Given the description of an element on the screen output the (x, y) to click on. 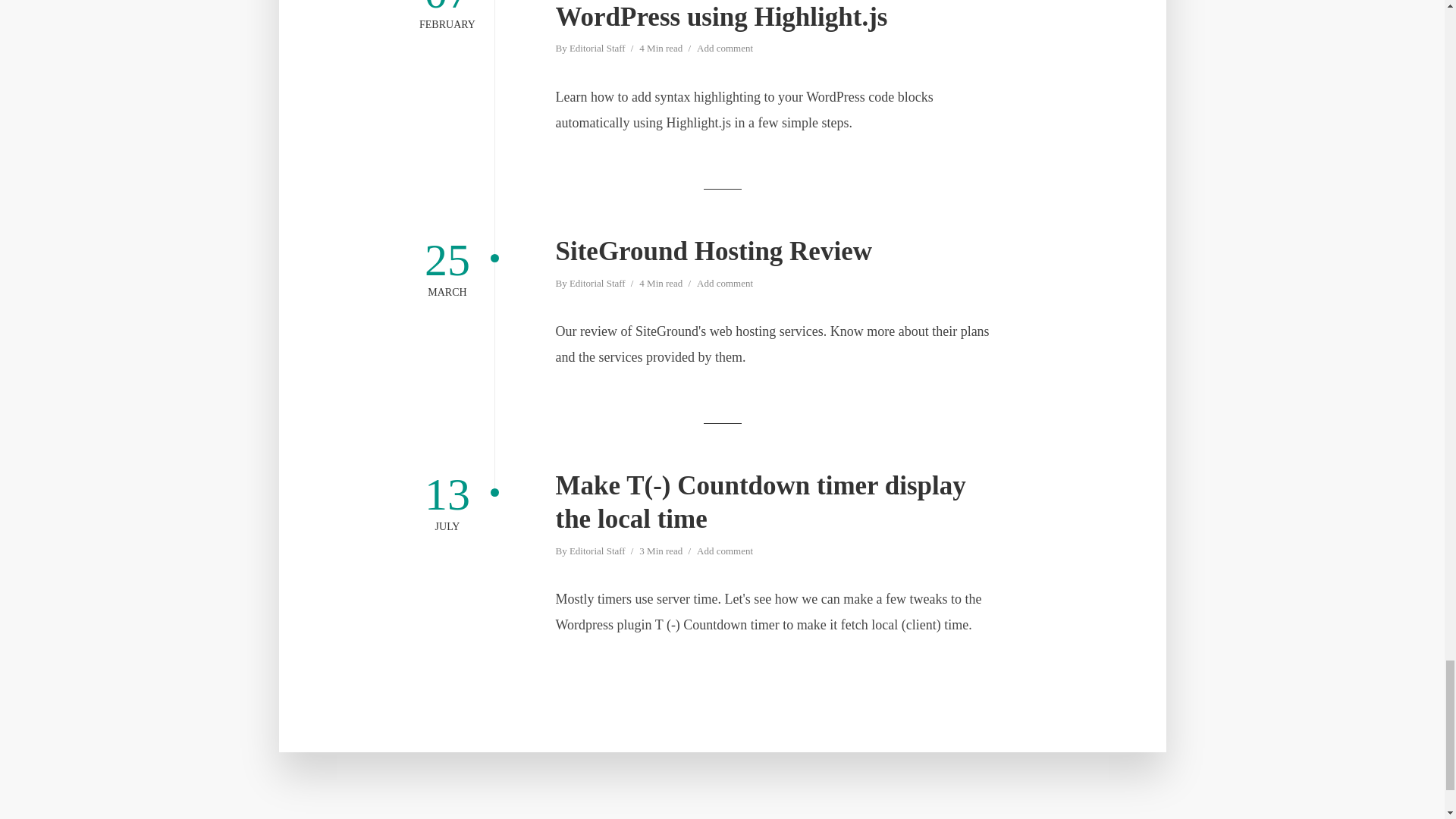
SiteGround Hosting Review (774, 251)
Editorial Staff (597, 49)
Add comment (724, 49)
Add Syntax Highlighting in WordPress using Highlight.js (774, 17)
